Given the description of an element on the screen output the (x, y) to click on. 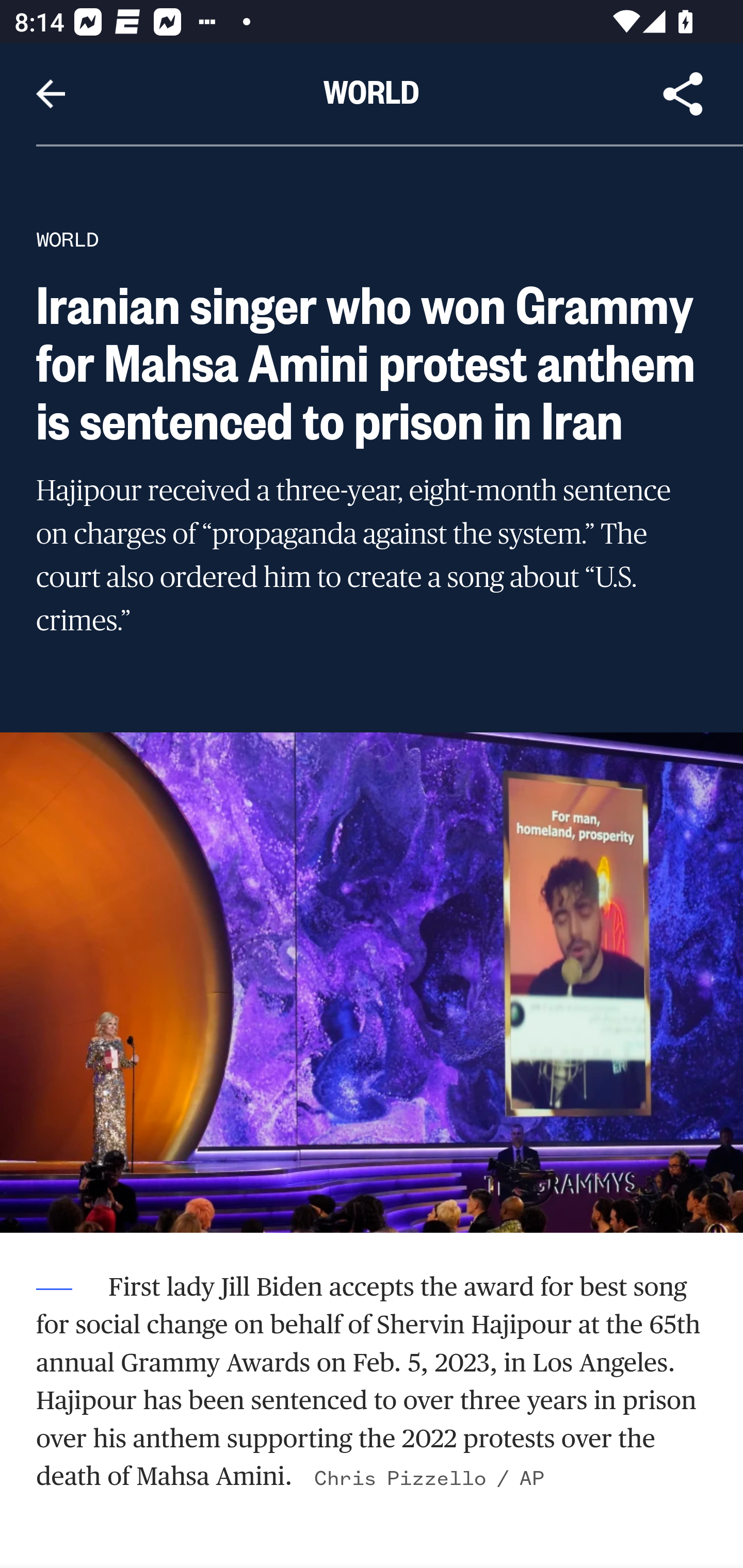
Navigate up (50, 93)
Share Article, button (683, 94)
WORLD (67, 239)
